Given the description of an element on the screen output the (x, y) to click on. 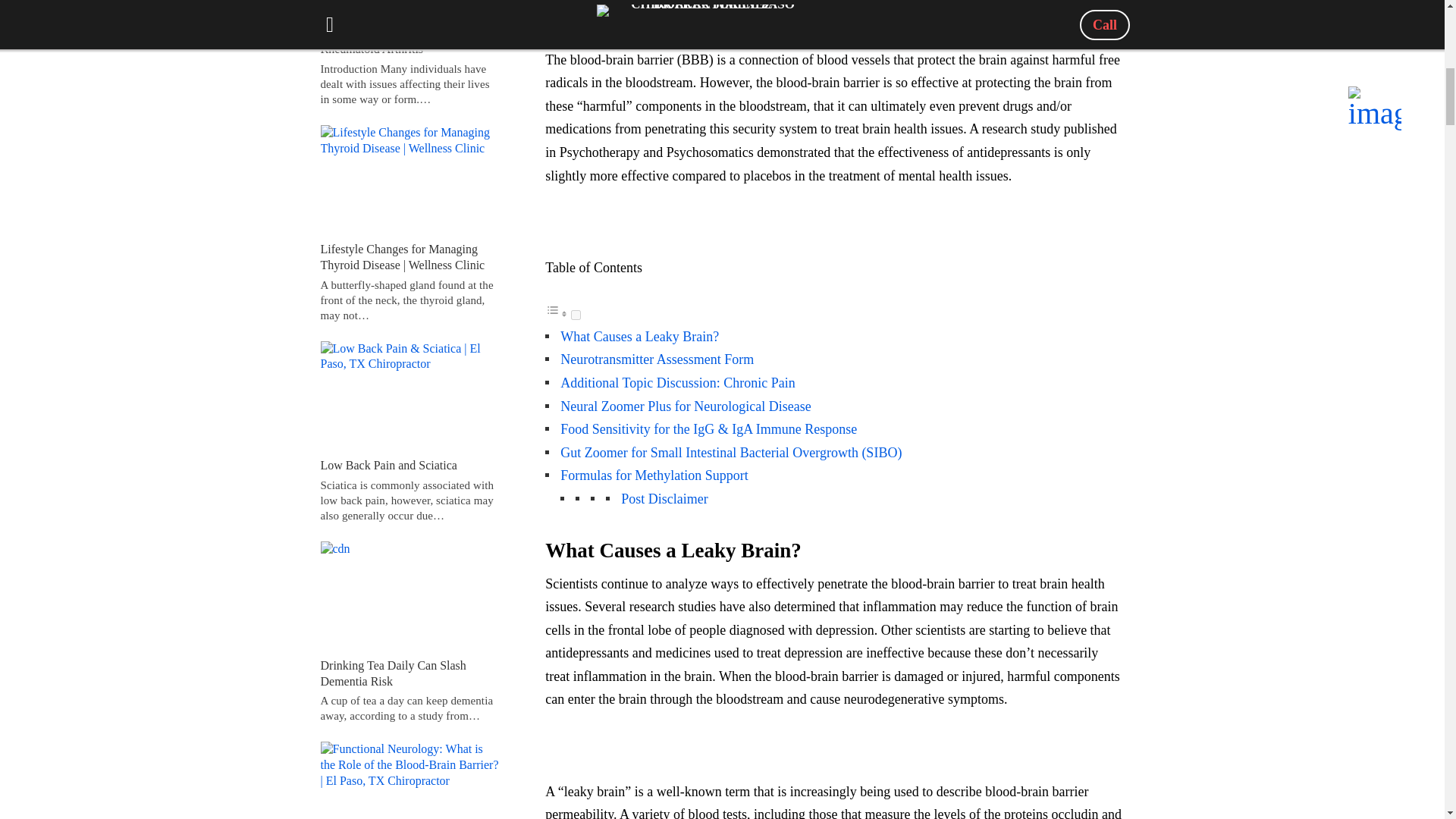
Post Disclaimer (664, 498)
What Causes a Leaky Brain? (639, 336)
on (575, 315)
Additional Topic Discussion: Chronic Pain (677, 382)
Neural Zoomer Plus for Neurological Disease (685, 406)
Formulas for Methylation Support (654, 475)
Neurotransmitter Assessment Form (657, 359)
